Given the description of an element on the screen output the (x, y) to click on. 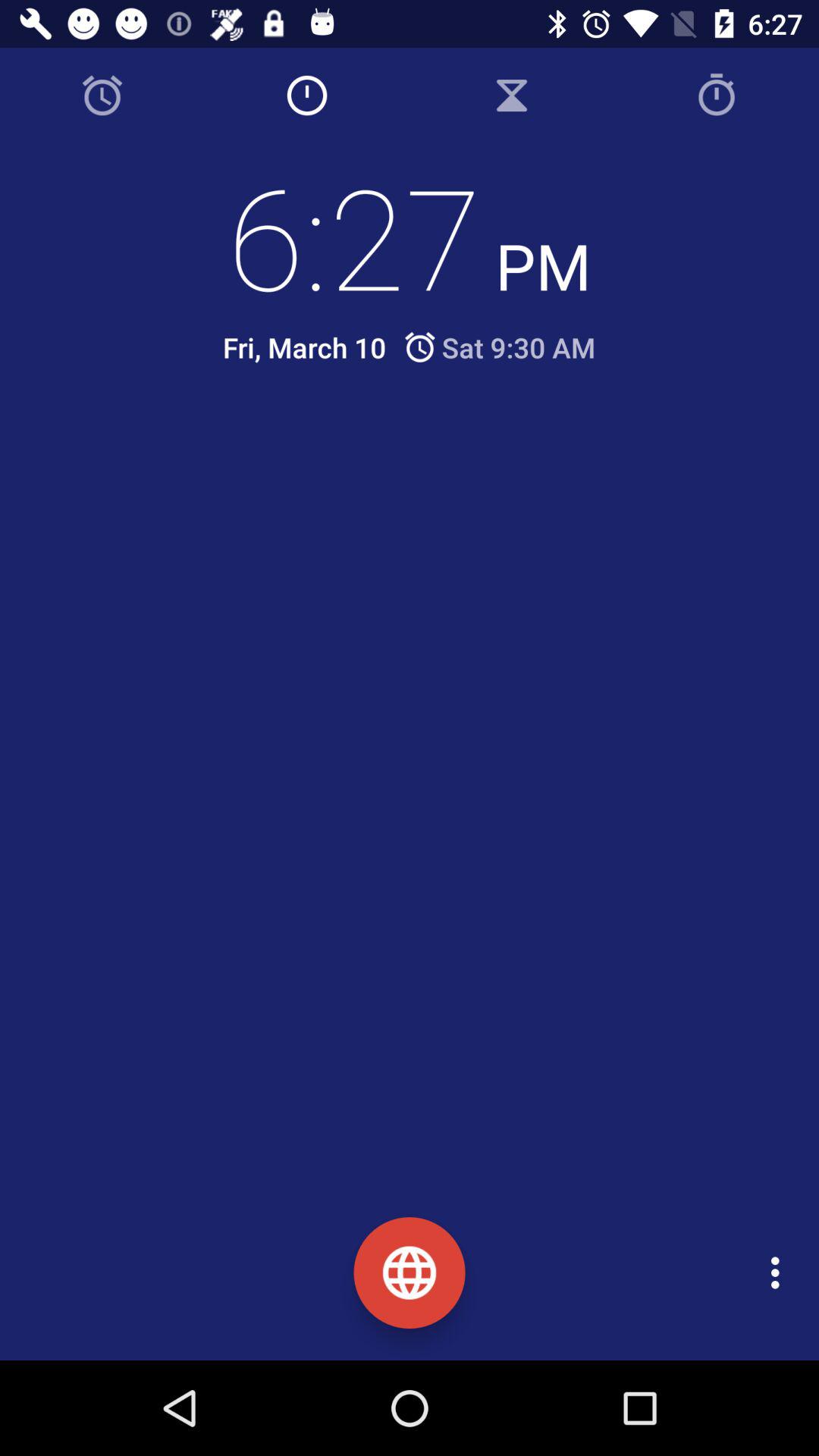
launch the icon next to the sat 9 30 (304, 347)
